Given the description of an element on the screen output the (x, y) to click on. 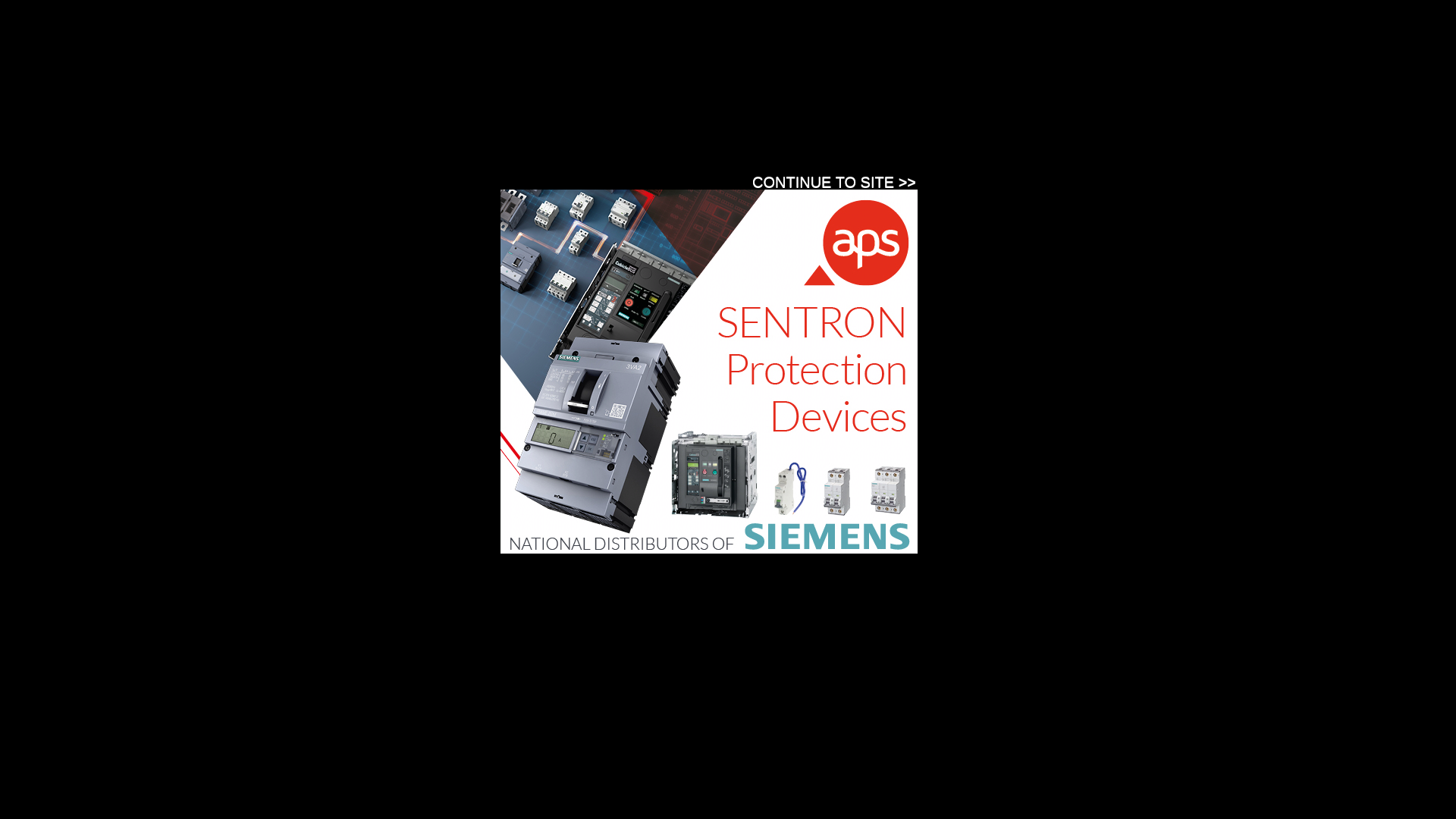
3rd party ad content Element type: hover (495, 215)
Efficiency Element type: text (673, 128)
Resources Element type: text (459, 178)
3rd party ad content Element type: hover (1025, 335)
Subscribe eNewsletter Element type: text (1089, 175)
Events Element type: text (402, 178)
Business Element type: text (400, 128)
OMRON G9KB relay Element type: text (376, 307)
Test & measure Element type: text (753, 128)
About Us Element type: text (635, 178)
Energy Safe Victoria Element type: text (487, 771)
NOJA Power 15 kV 310 series recloser Element type: text (446, 421)
Automation Element type: text (332, 128)
Data & Comms Element type: text (478, 128)
NOJA Power Switchgear Pty Ltd Element type: text (514, 561)
3rd party ad content Element type: hover (708, 371)
Mitigating risk for a critical load Element type: text (424, 535)
The Magazine Element type: text (336, 178)
Lack of planning may jeopardise EV uptake Element type: text (464, 647)
Products Element type: text (519, 178)
Featured Articles Element type: text (1034, 475)
Omron Electronics Pty Ltd Element type: text (500, 333)
Directory Element type: text (577, 178)
NOJA Power Switchgear Pty Ltd Element type: text (514, 447)
CONTINUE TO SITE >> Element type: text (834, 181)
3rd party ad content Element type: hover (842, 62)
Electrical distribution Element type: text (582, 128)
ECD (Electrical+Comms+Data) Element type: hover (371, 53)
Electricians urged not to re-energise switchboards Element type: text (489, 745)
